Given the description of an element on the screen output the (x, y) to click on. 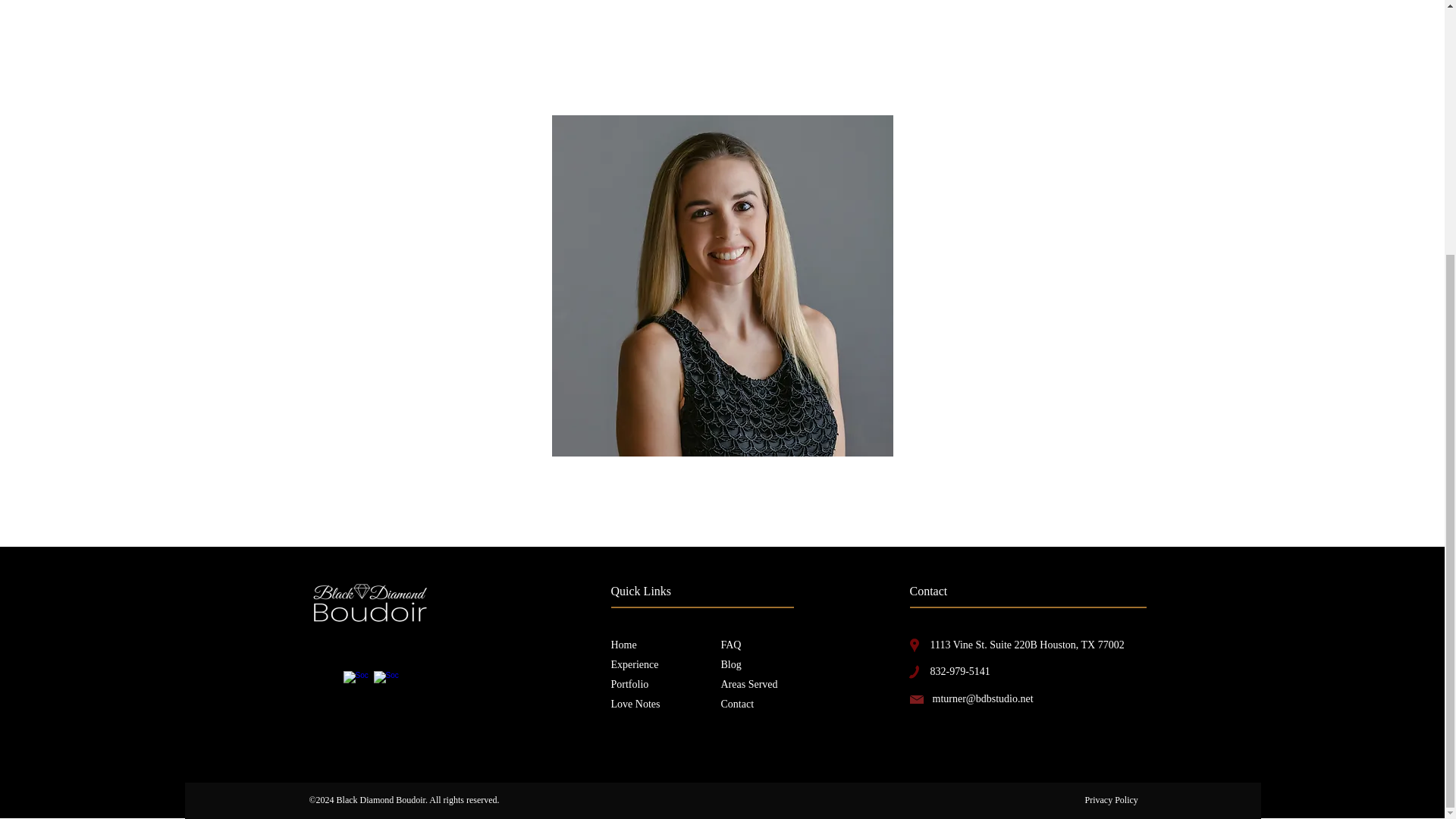
Contact (737, 704)
Blog (730, 664)
FAQ (730, 644)
Love Notes (636, 704)
Privacy Policy (1110, 799)
Portfolio (630, 684)
Areas Served (748, 684)
832-979-5141 (960, 671)
Home (624, 644)
Experience (635, 664)
